Given the description of an element on the screen output the (x, y) to click on. 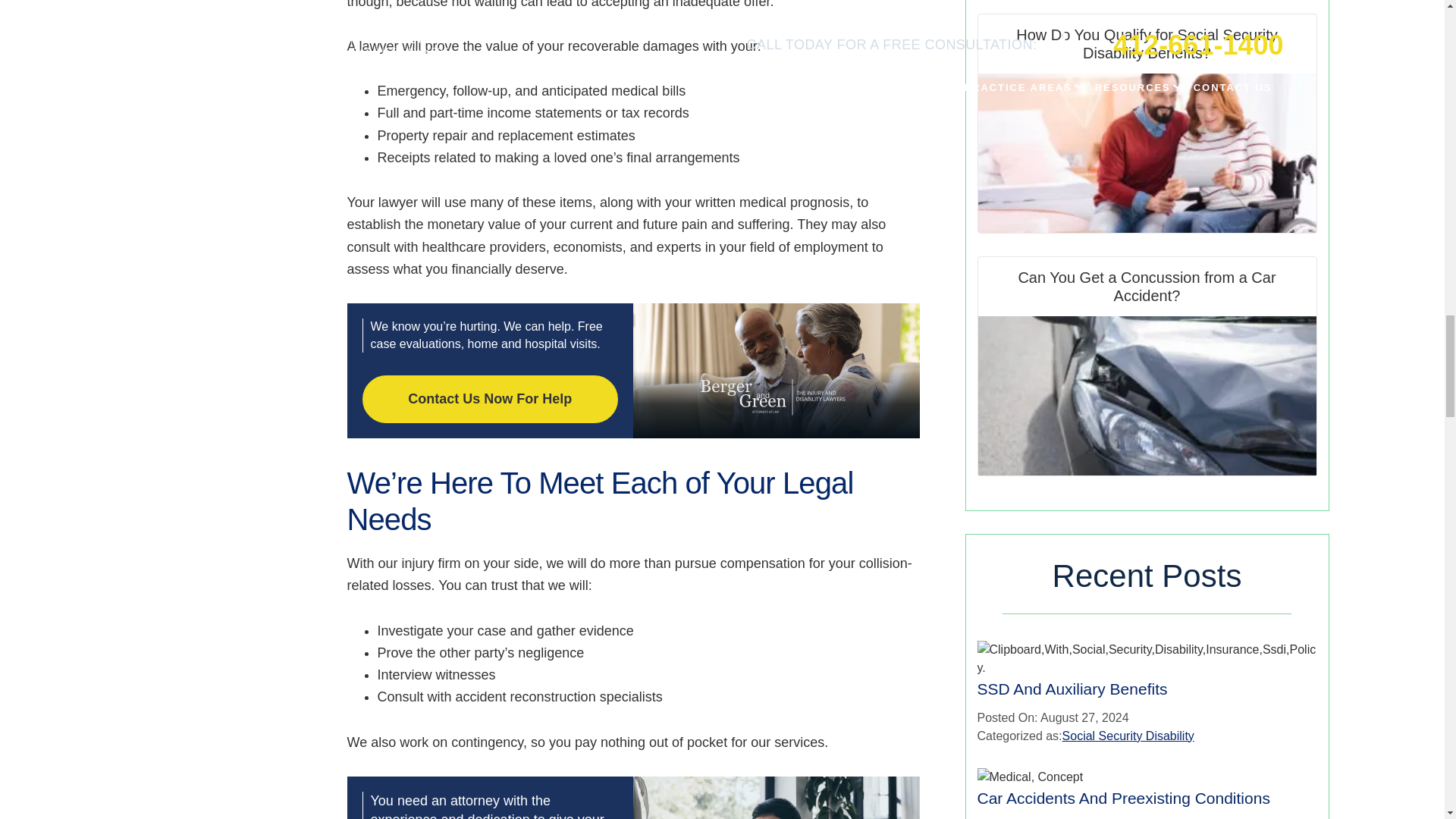
How Do You Qualify for Social Security Disability Benefits? (1147, 123)
Can You Get a Concussion from a Car Accident? (1147, 395)
Can You Get a Concussion from a Car Accident? (1147, 366)
How Do You Qualify for Social Security Disability Benefits? (1147, 152)
